Given the description of an element on the screen output the (x, y) to click on. 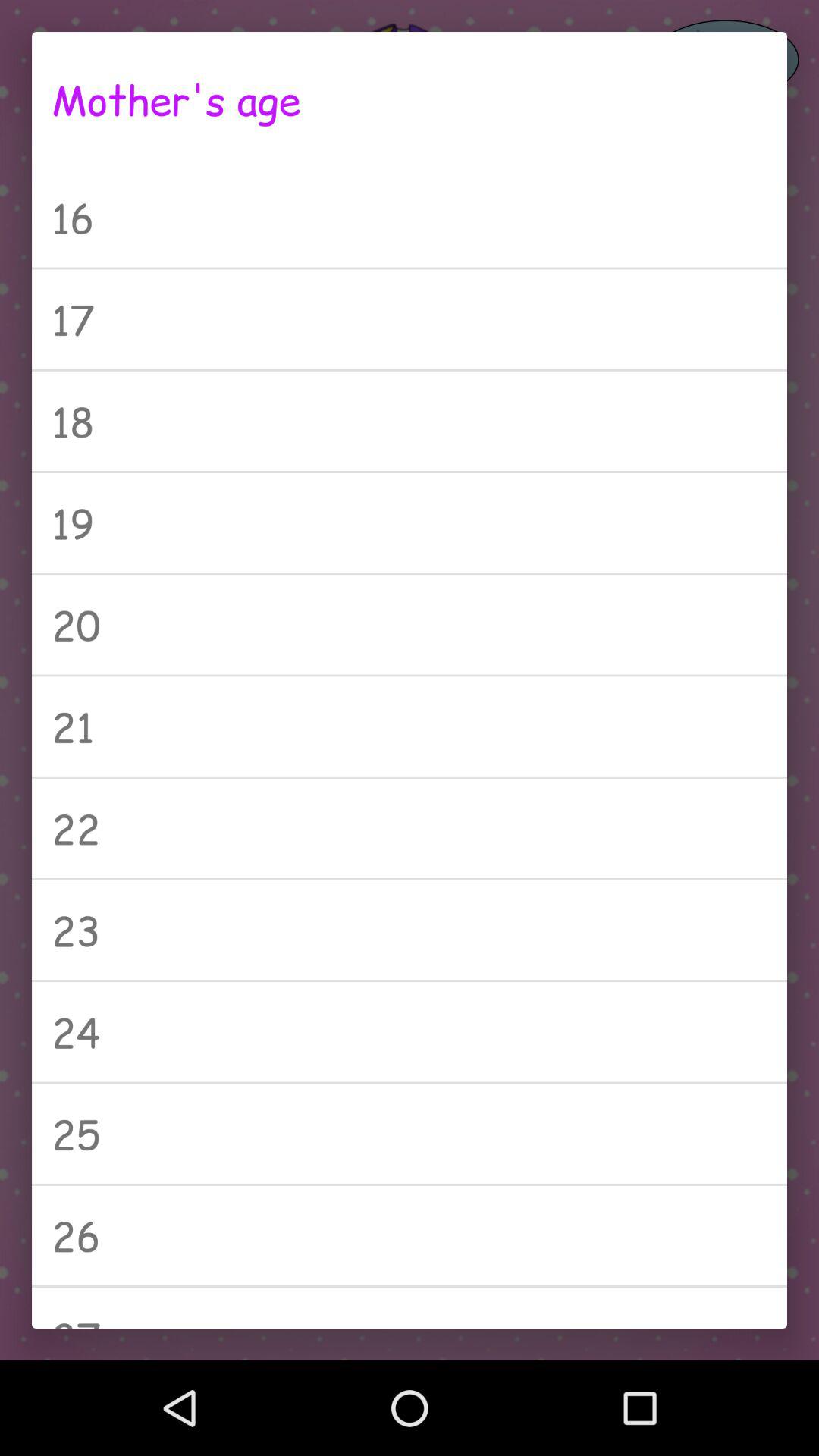
tap the item below the 22 item (409, 929)
